Given the description of an element on the screen output the (x, y) to click on. 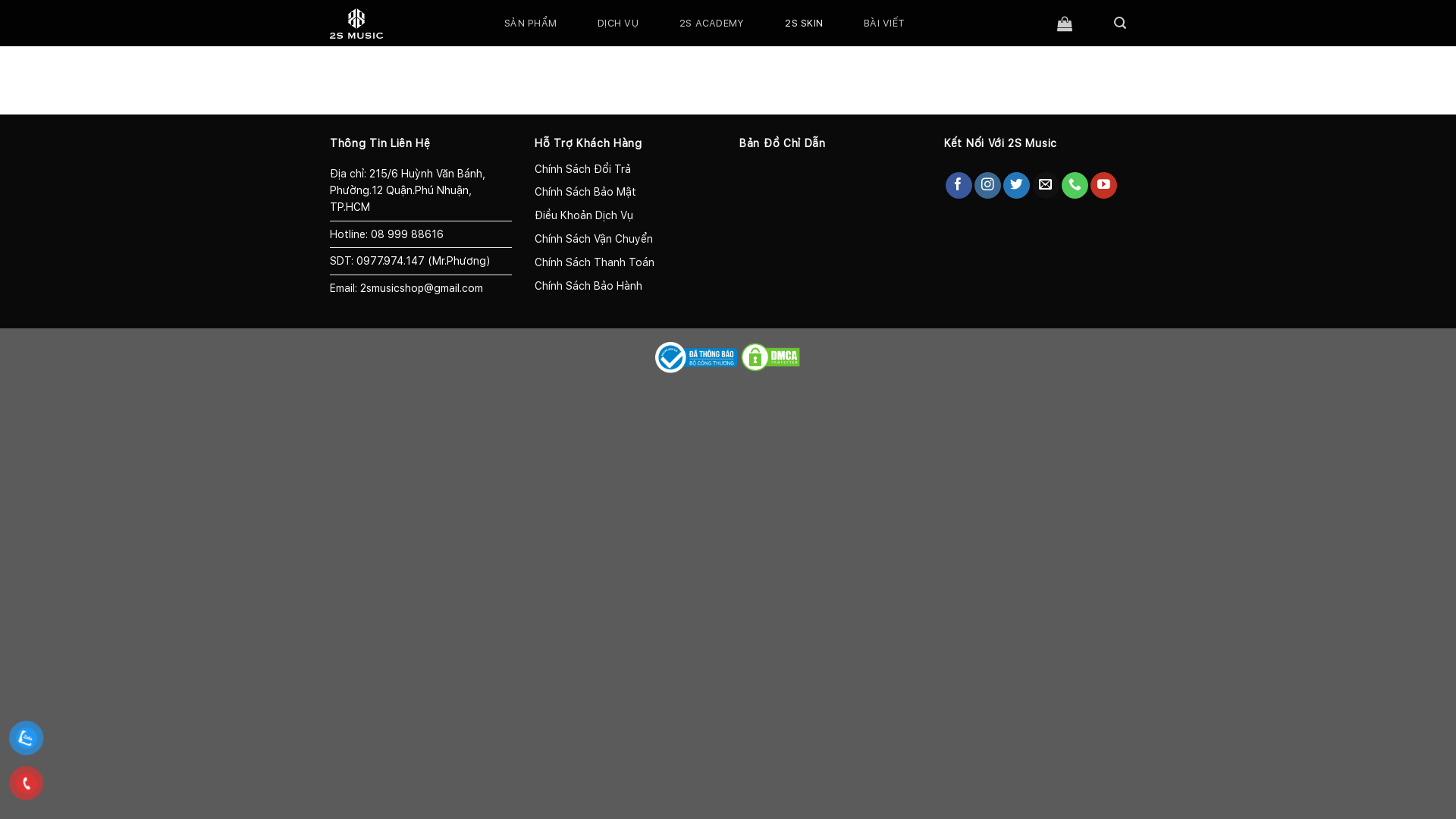
2S SKIN Element type: text (803, 22)
2S ACADEMY Element type: text (711, 22)
DMCA.com Protection Status Element type: hover (770, 356)
